Given the description of an element on the screen output the (x, y) to click on. 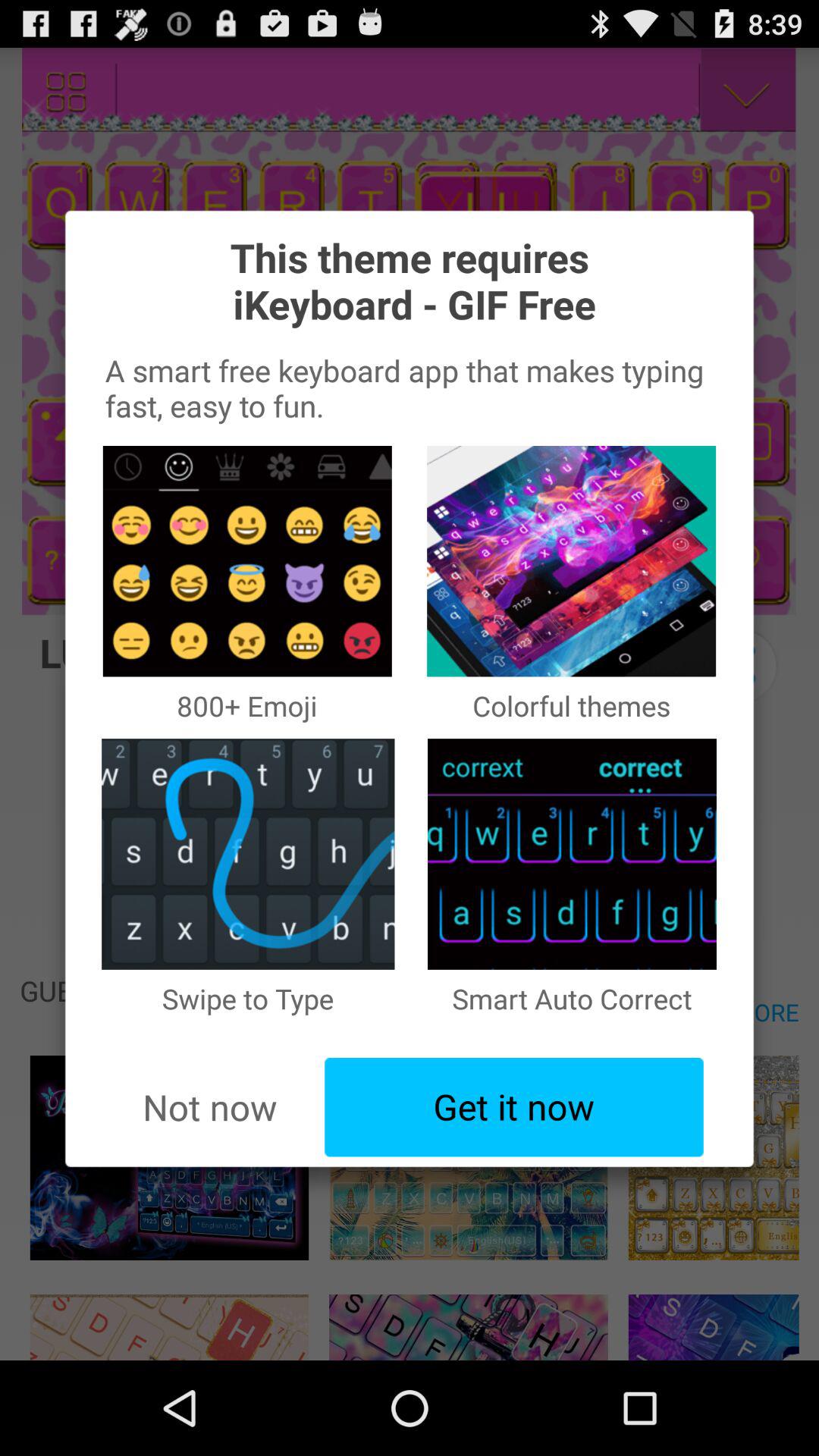
tap button to the left of get it now button (209, 1106)
